Given the description of an element on the screen output the (x, y) to click on. 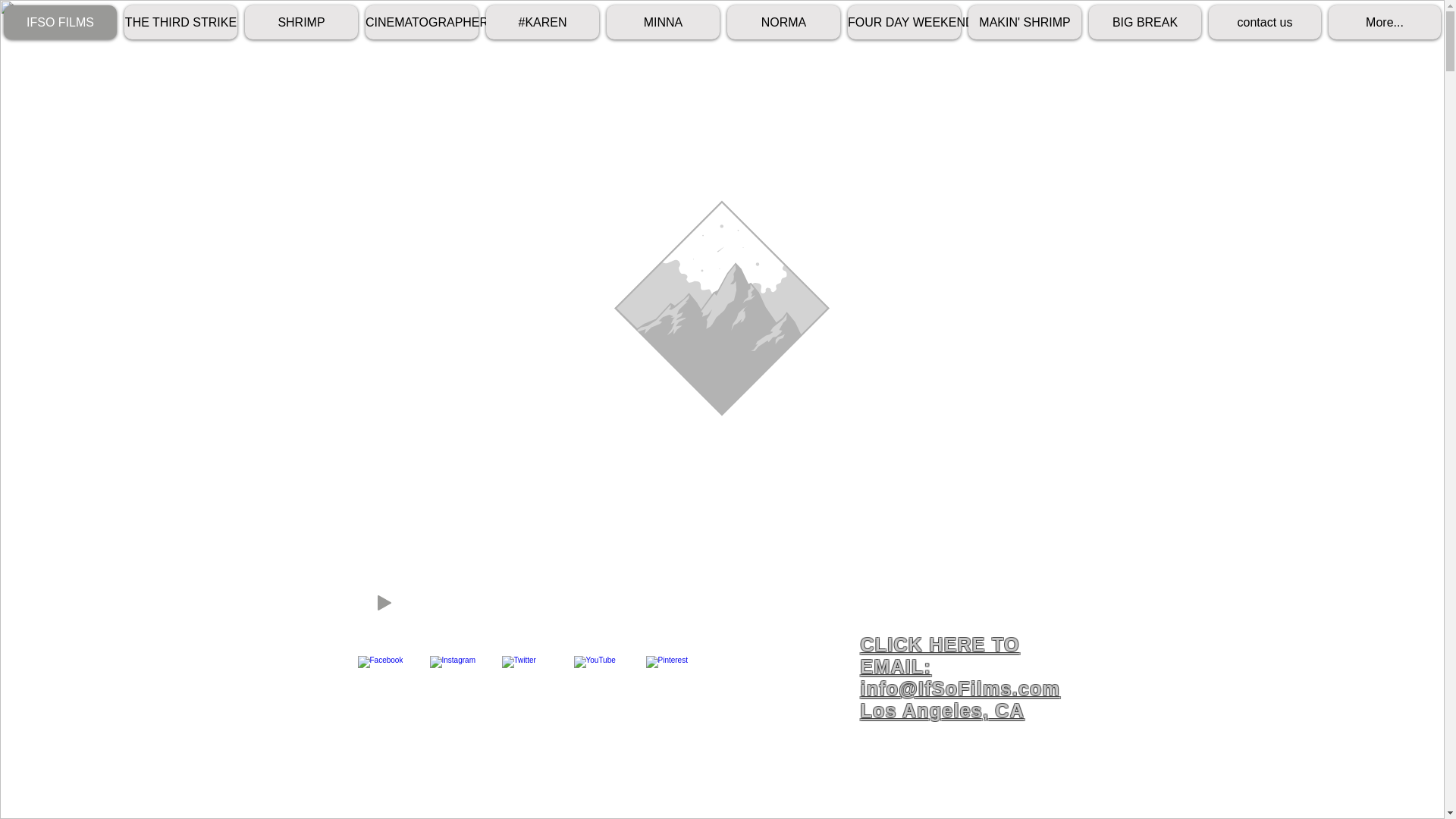
THE THIRD STRIKE (180, 21)
MINNA (663, 21)
CINEMATOGRAPHER (422, 21)
NORMA (783, 21)
BIG BREAK (1145, 21)
SHRIMP (301, 21)
IFSO FILMS (60, 21)
MAKIN' SHRIMP (1024, 21)
contact us (1264, 21)
FOUR DAY WEEKEND (903, 21)
